Given the description of an element on the screen output the (x, y) to click on. 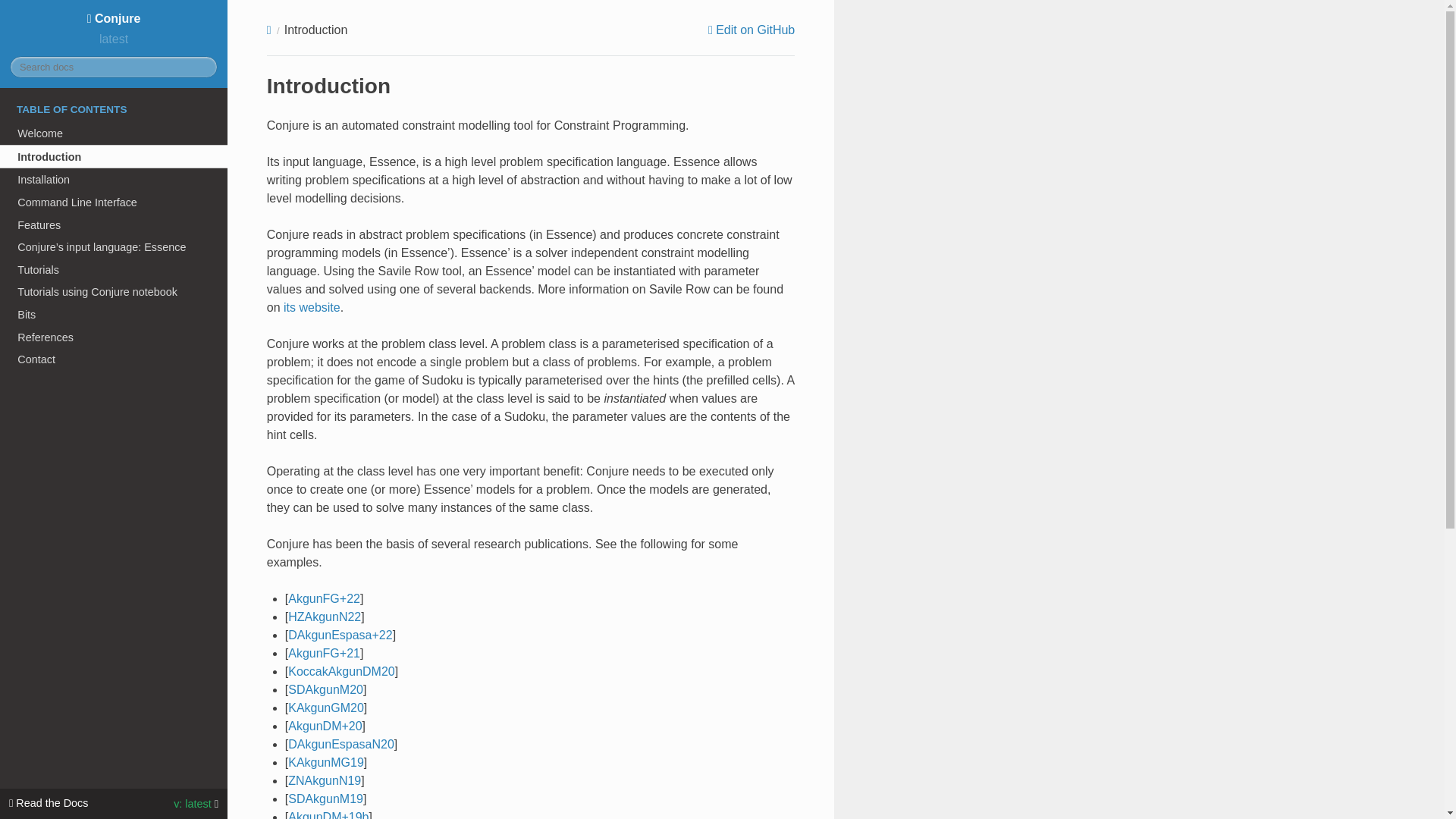
DAkgunEspasaN20 (341, 744)
Command Line Interface (113, 201)
Conjure (113, 18)
KAkgunGM20 (326, 707)
its website (311, 307)
Tutorials (113, 269)
Introduction (113, 156)
KoccakAkgunDM20 (341, 671)
References (113, 336)
Welcome (113, 133)
